Given the description of an element on the screen output the (x, y) to click on. 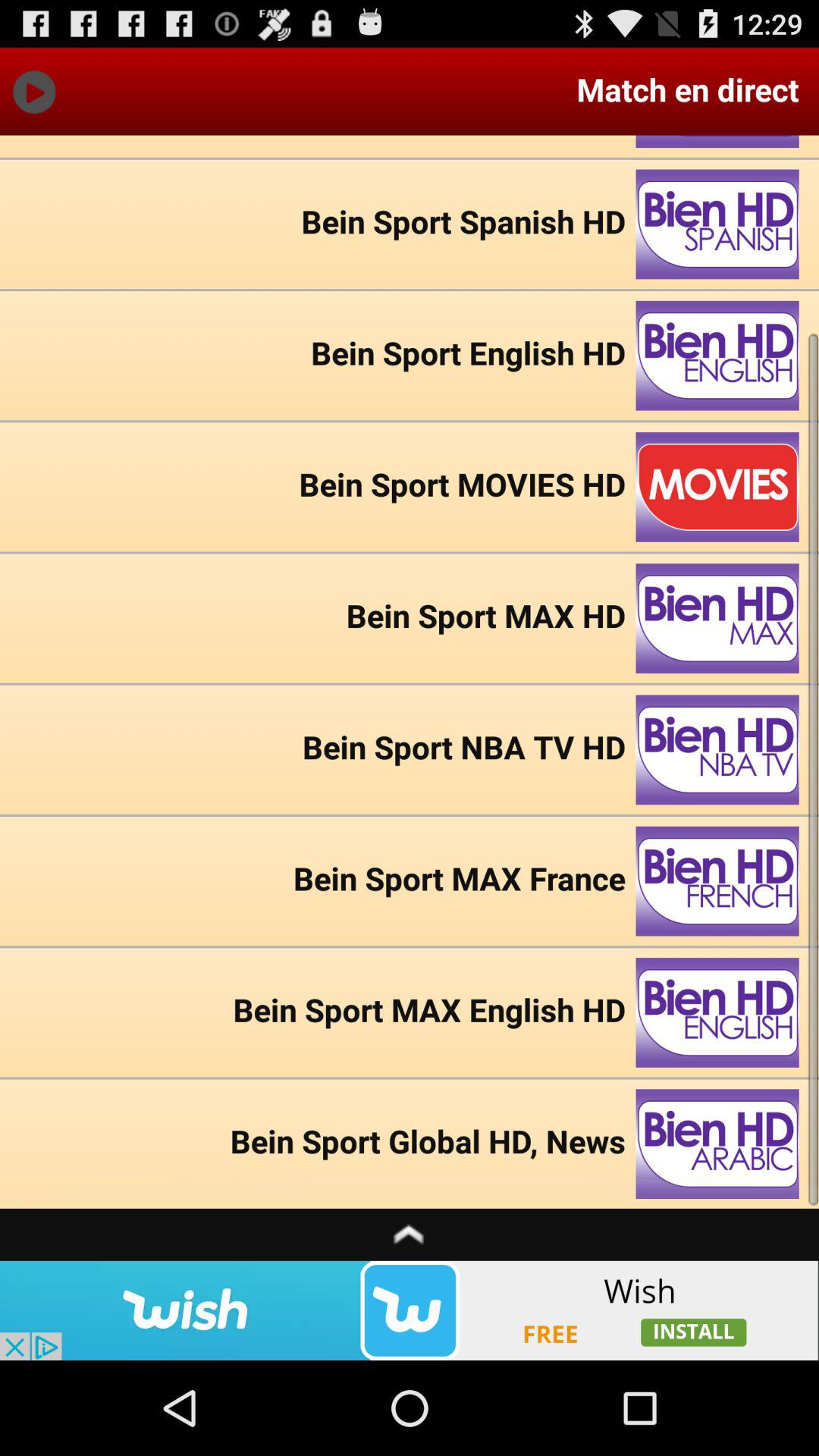
extend options (409, 1234)
